Given the description of an element on the screen output the (x, y) to click on. 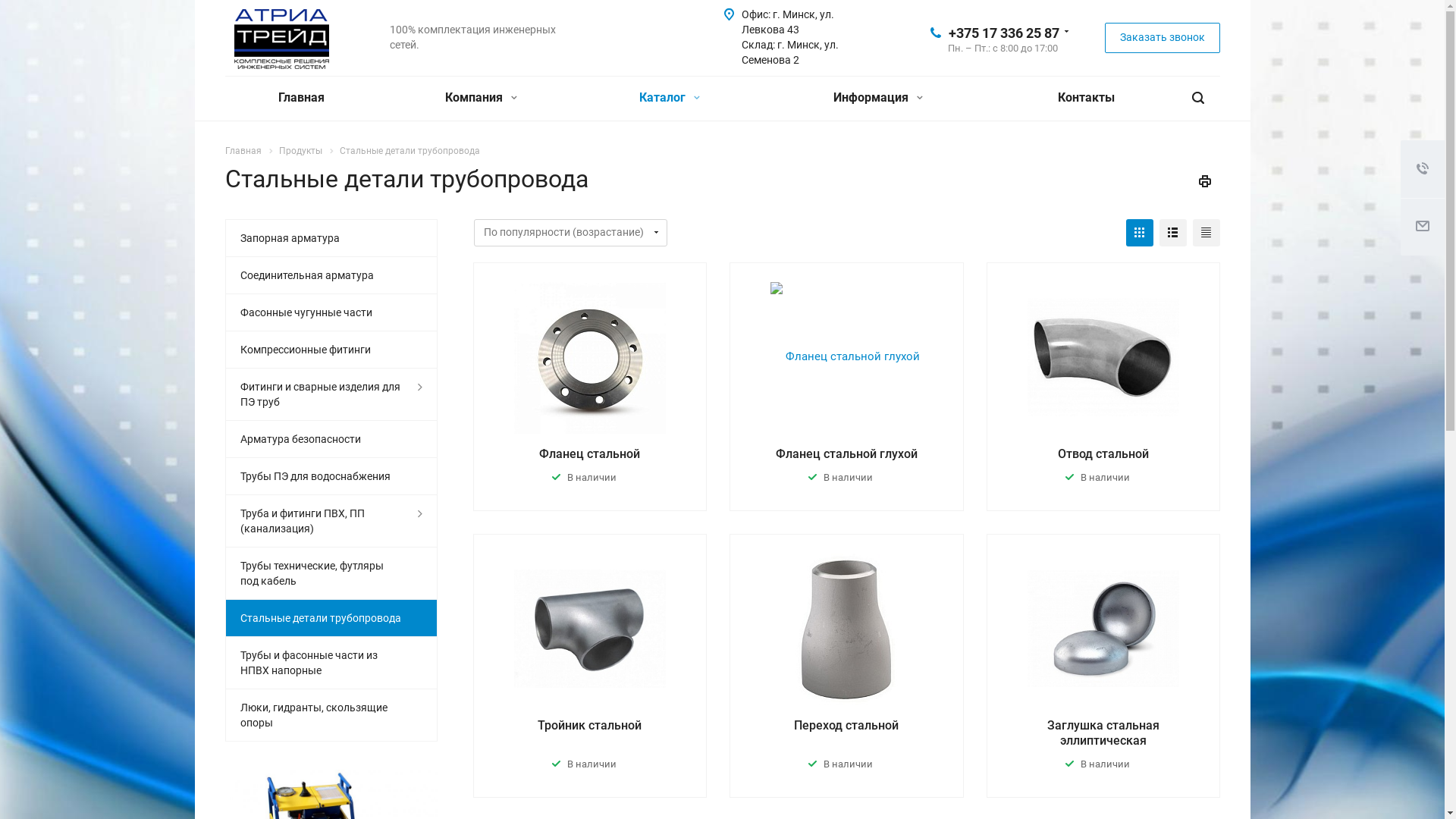
+375 17 336 25 87 Element type: text (1002, 32)
